Given the description of an element on the screen output the (x, y) to click on. 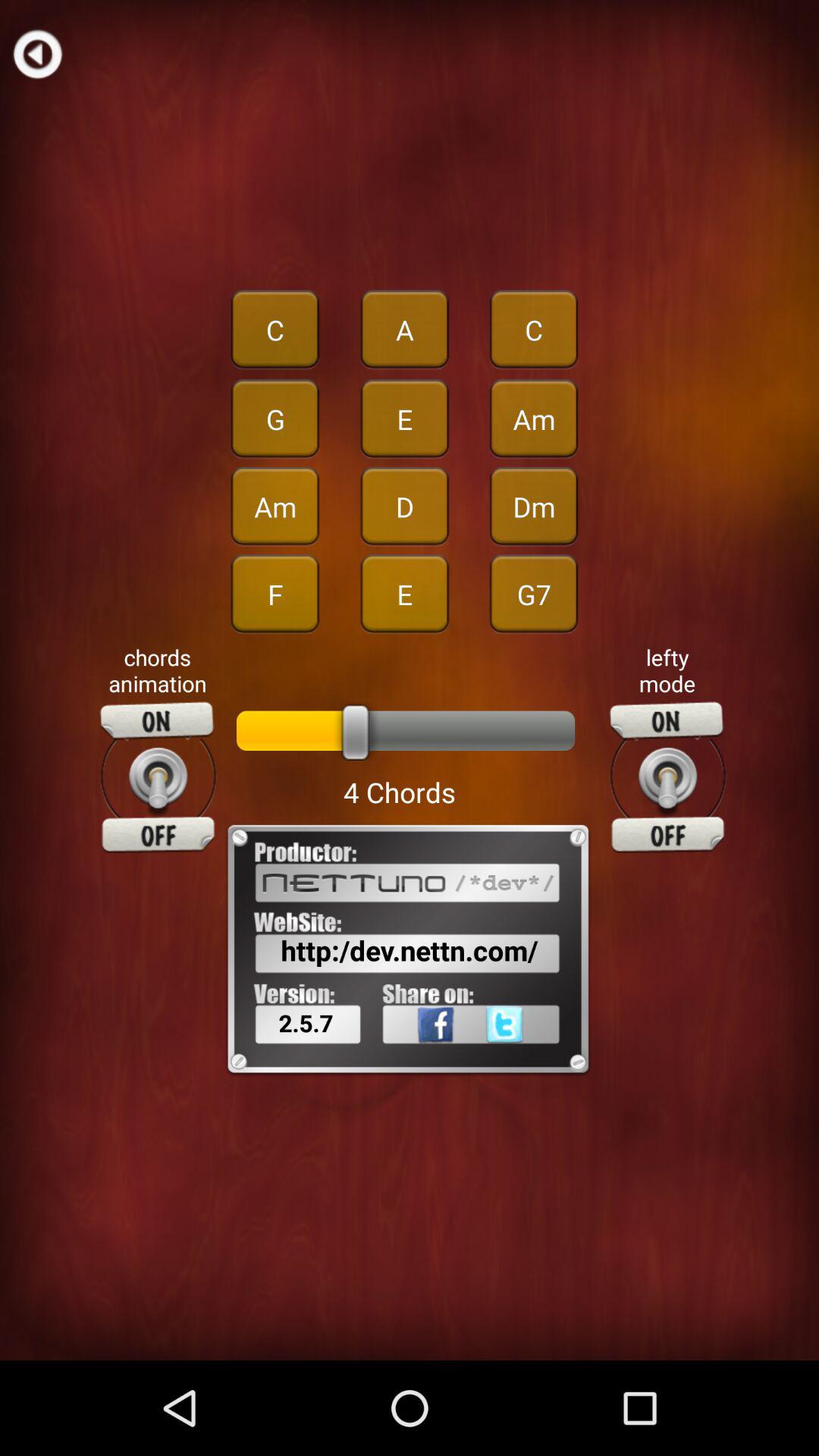
launch the item above the 2.5.7 item (409, 950)
